Given the description of an element on the screen output the (x, y) to click on. 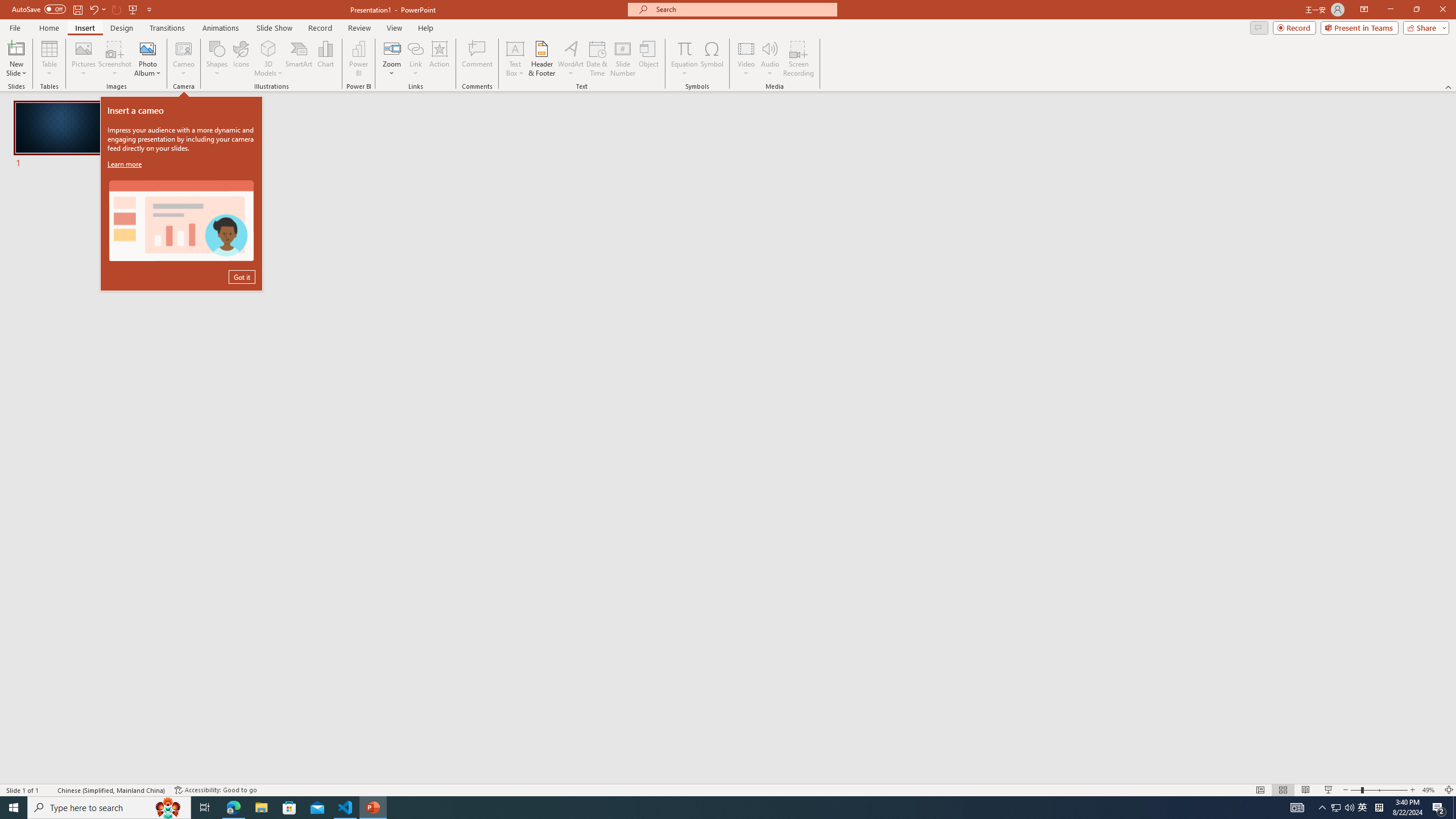
Draw Horizontal Text Box (515, 48)
Power BI (358, 58)
Chart... (325, 58)
Header & Footer... (541, 58)
